Given the description of an element on the screen output the (x, y) to click on. 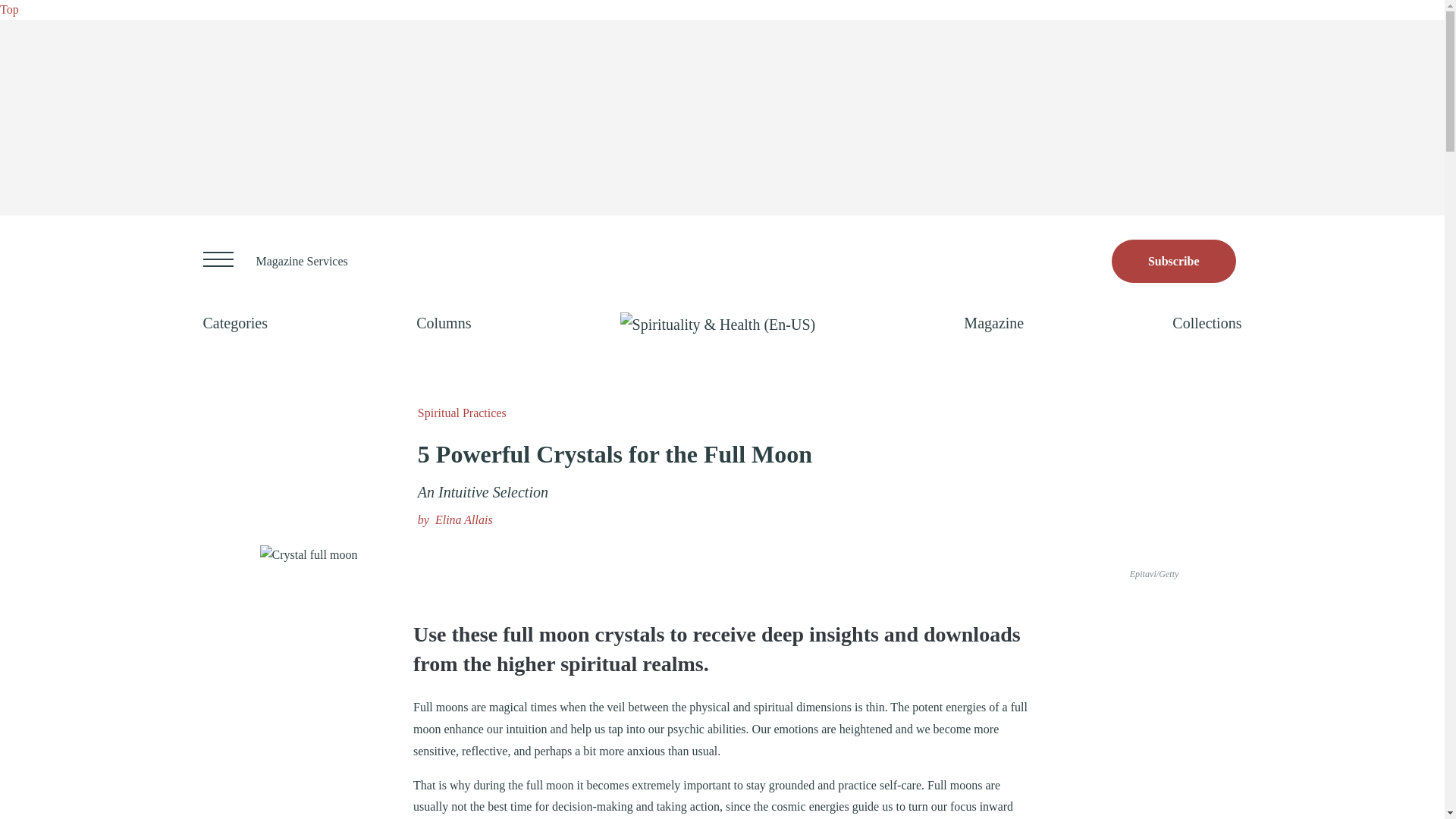
Top (9, 9)
Opens to Store site (1174, 261)
Categories (235, 322)
Subscribe (1174, 261)
Magazine Services (301, 260)
Magazine (993, 322)
Columns (443, 322)
Collections (1206, 322)
